Given the description of an element on the screen output the (x, y) to click on. 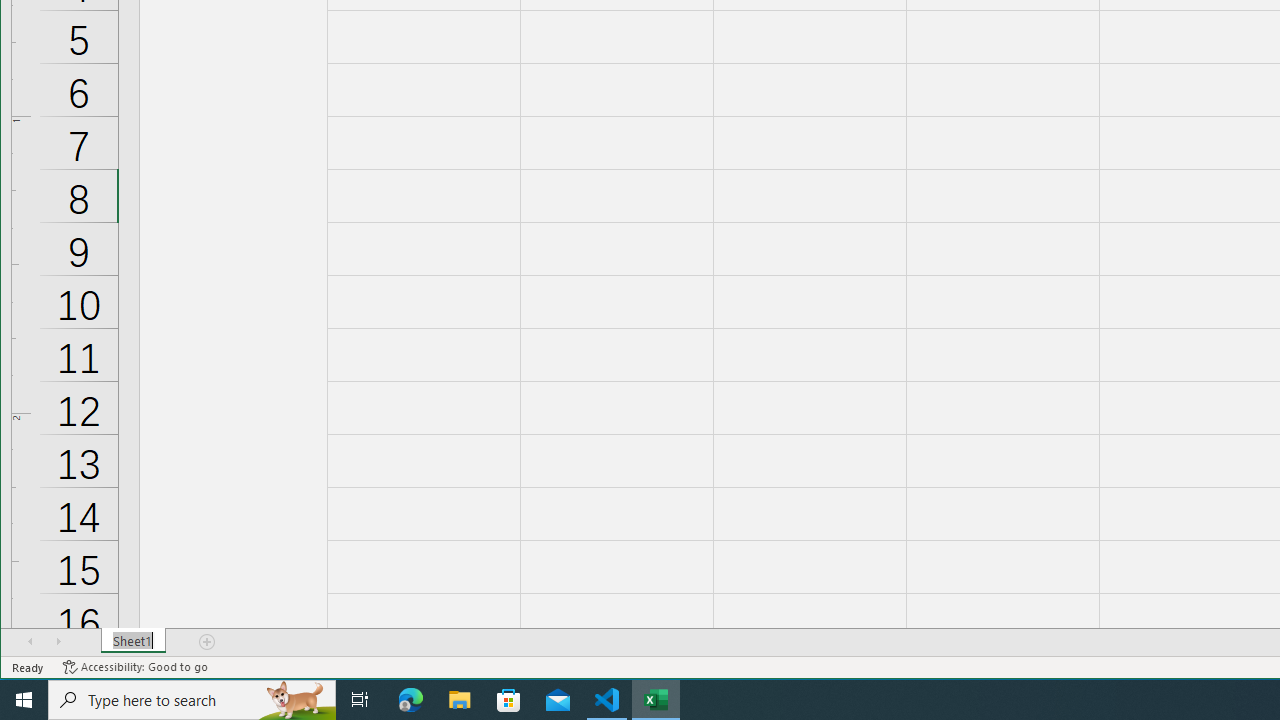
Search highlights icon opens search home window (295, 699)
Microsoft Edge (411, 699)
Excel - 1 running window (656, 699)
Task View (359, 699)
Visual Studio Code - 1 running window (607, 699)
Start (24, 699)
Microsoft Store (509, 699)
File Explorer (460, 699)
Type here to search (191, 699)
